Given the description of an element on the screen output the (x, y) to click on. 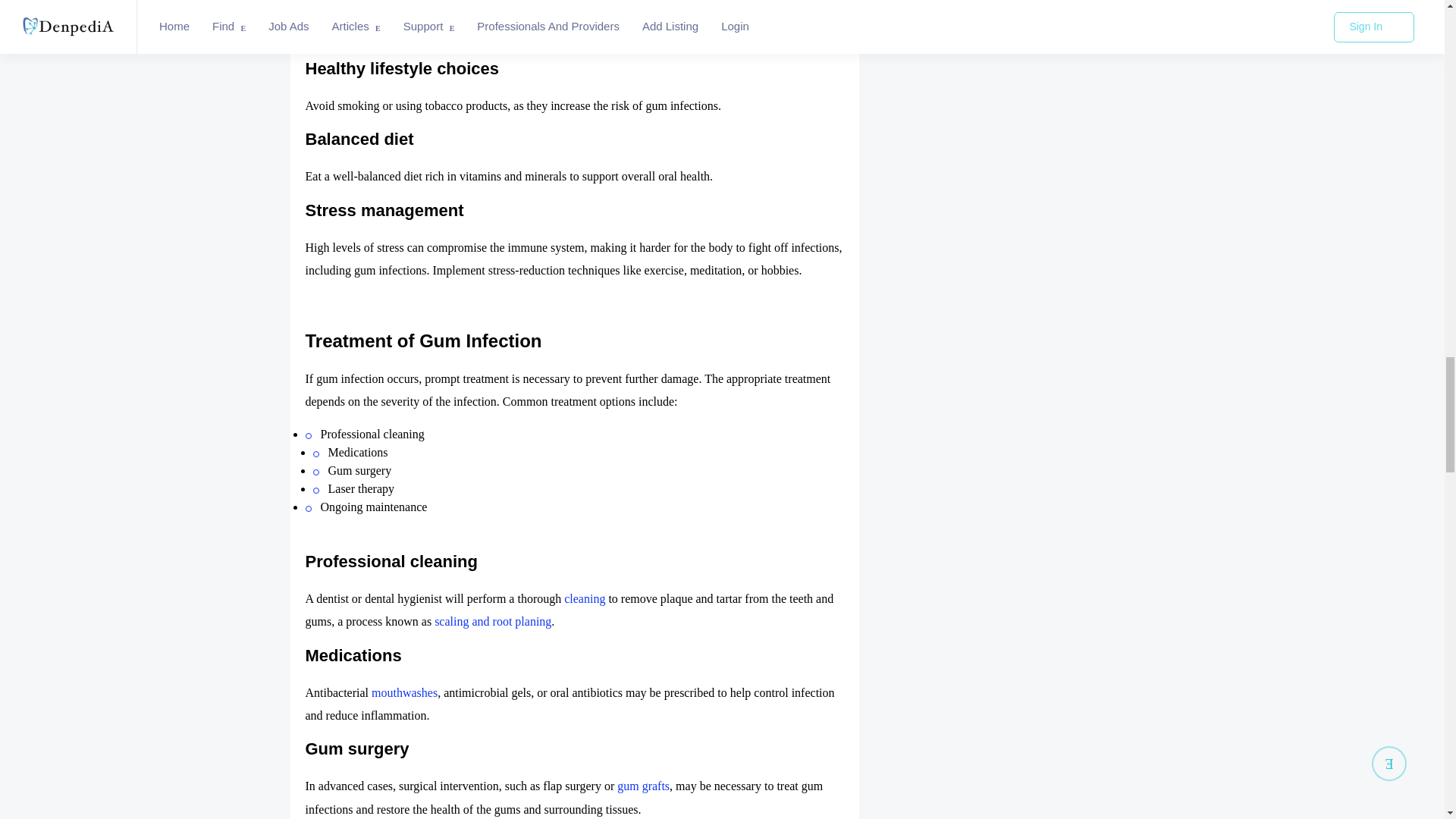
cleaning (584, 598)
mouthwashes (404, 692)
dentist (372, 33)
scaling and root planing (492, 621)
gum grafts (643, 785)
